Given the description of an element on the screen output the (x, y) to click on. 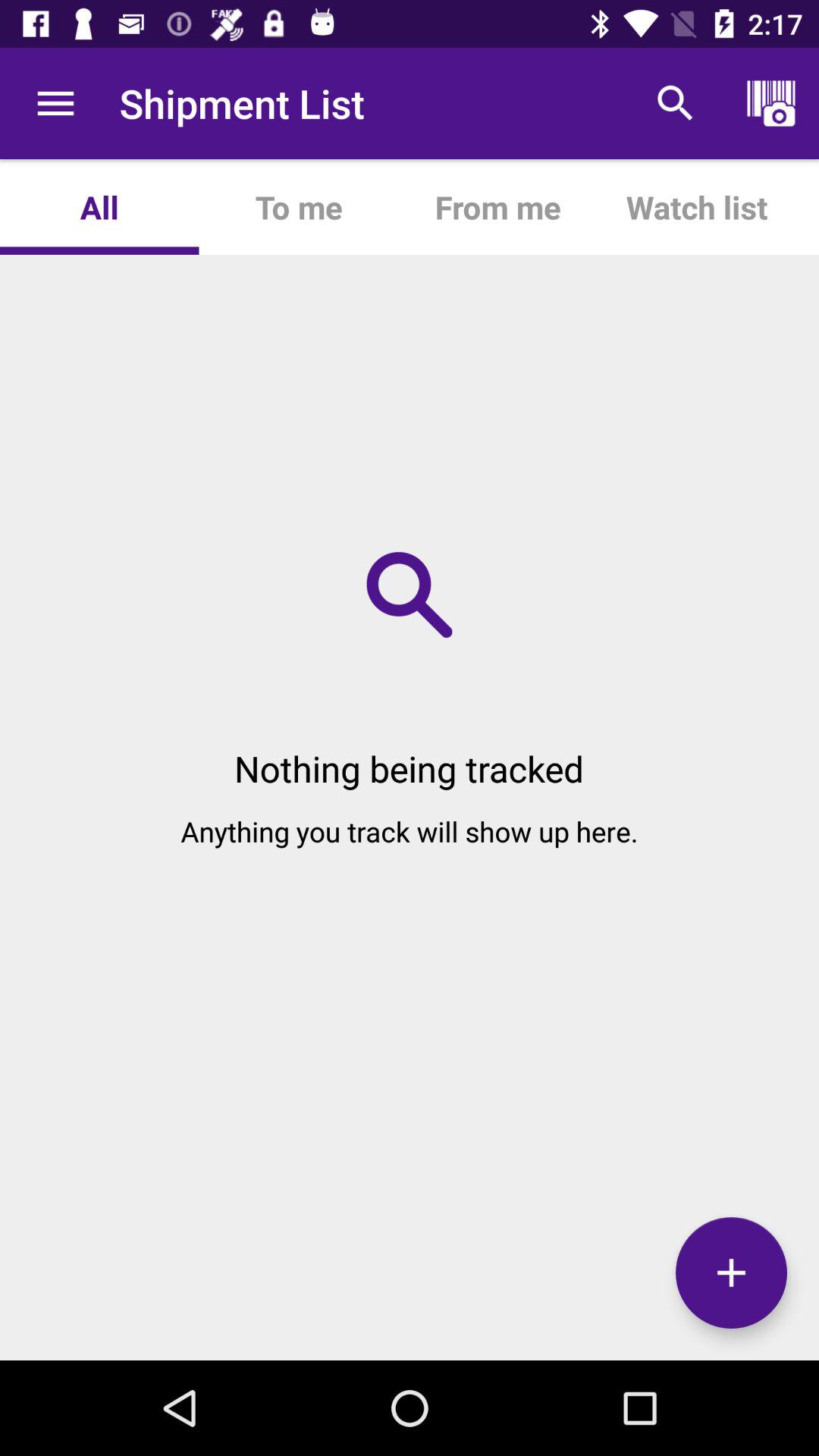
select item to the right of the from me app (675, 103)
